Given the description of an element on the screen output the (x, y) to click on. 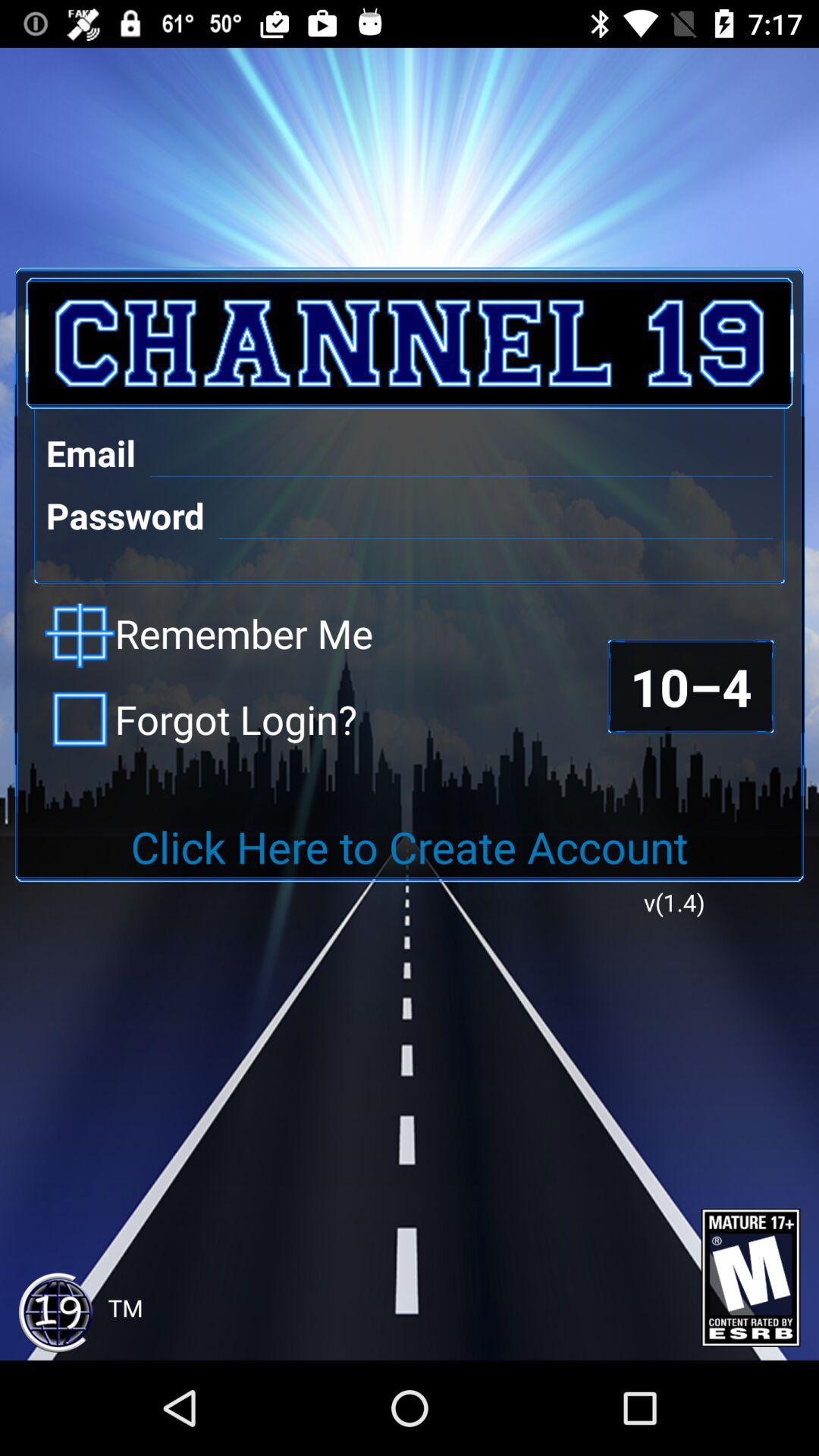
turn off checkbox below the remember me icon (200, 719)
